Given the description of an element on the screen output the (x, y) to click on. 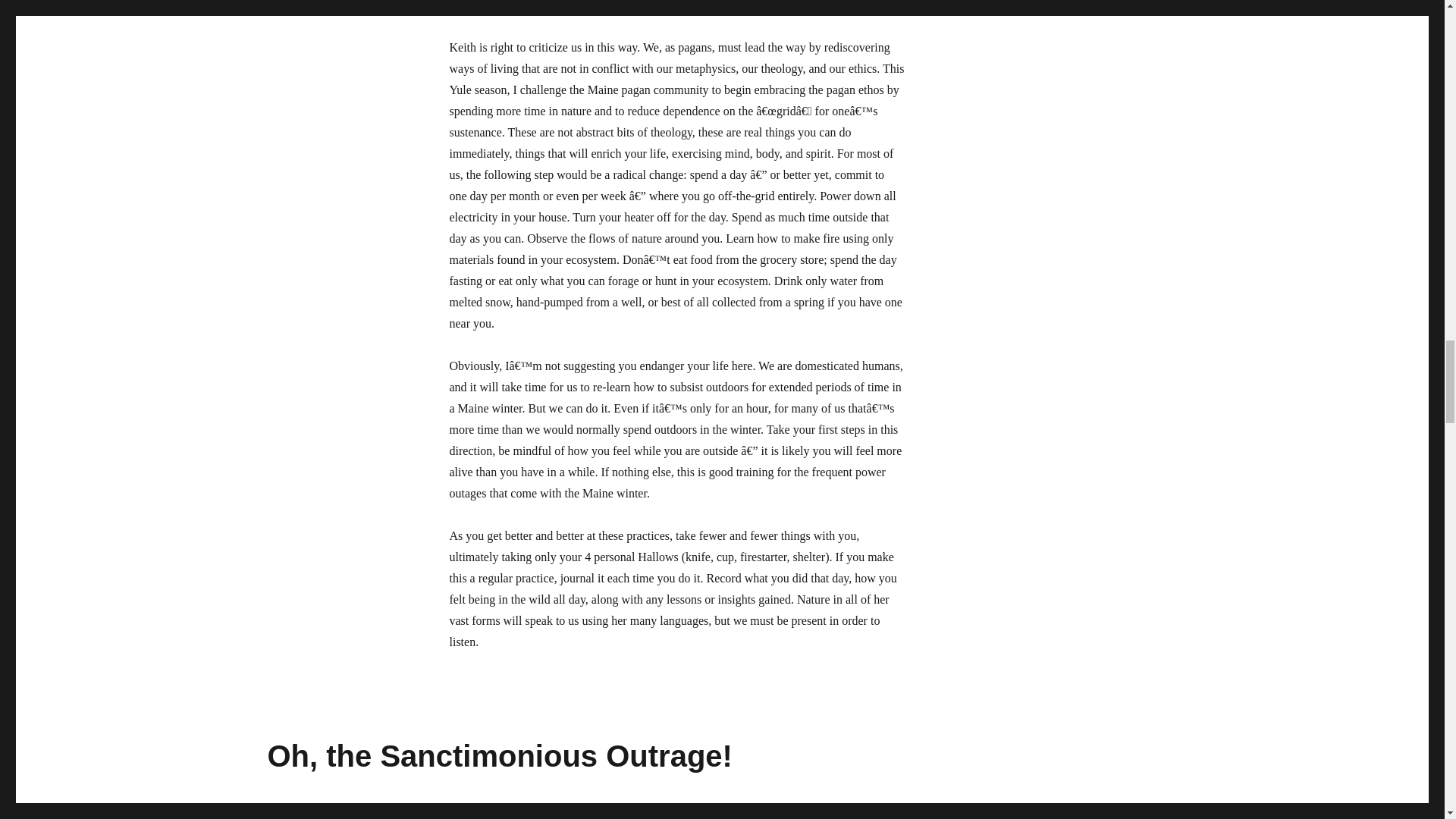
January 15, 2010 (304, 814)
Oh, the Sanctimonious Outrage! (499, 756)
